Given the description of an element on the screen output the (x, y) to click on. 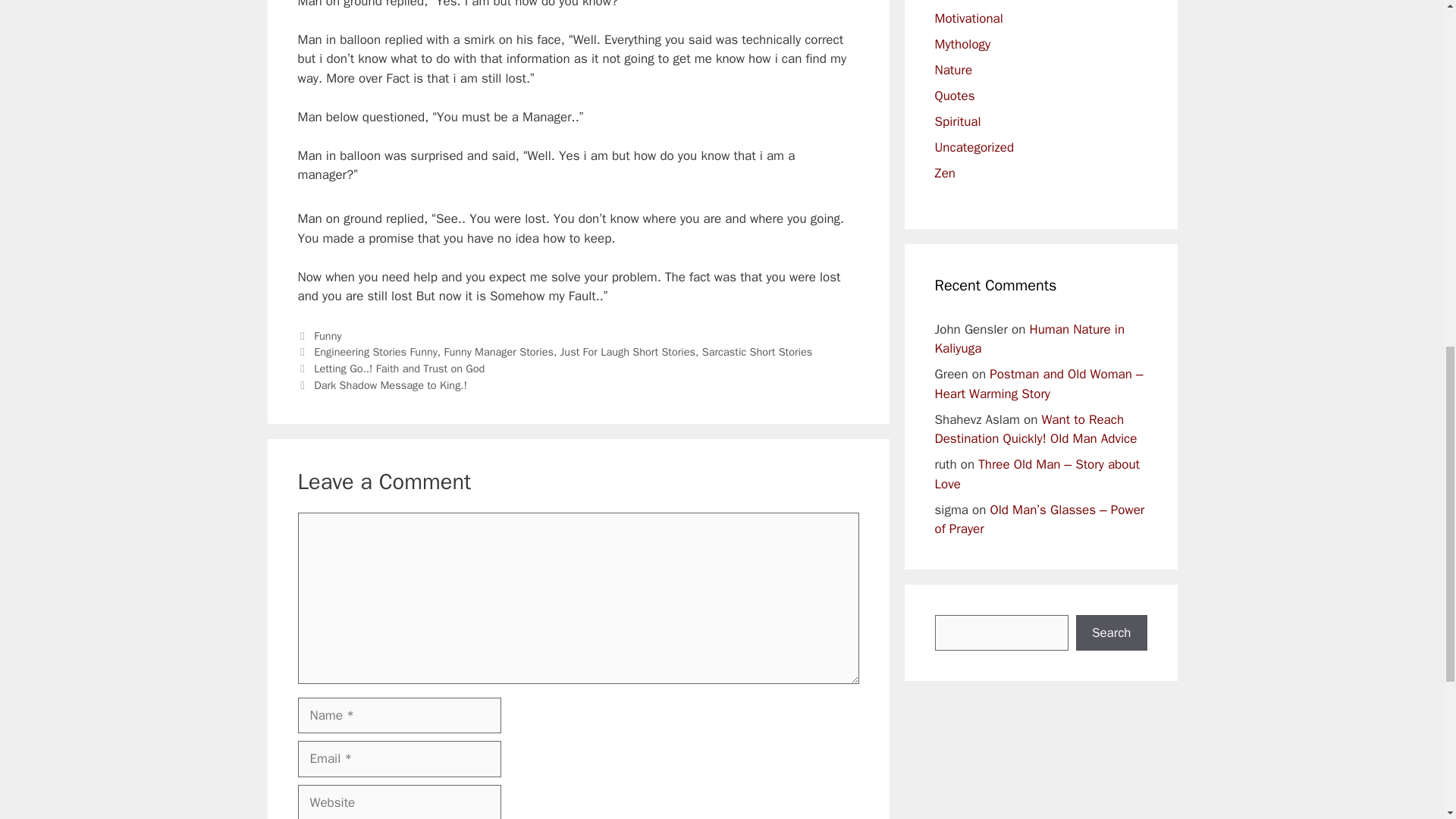
Management (970, 0)
Letting Go..! Faith and Trust on God (399, 368)
Funny Manager Stories (498, 351)
Sarcastic Short Stories (756, 351)
Engineering Stories Funny (376, 351)
Nature (953, 69)
Mythology (962, 44)
Funny (327, 336)
Scroll back to top (1406, 720)
Motivational (968, 18)
Dark Shadow Message to King.! (390, 385)
Just For Laugh Short Stories (627, 351)
